Given the description of an element on the screen output the (x, y) to click on. 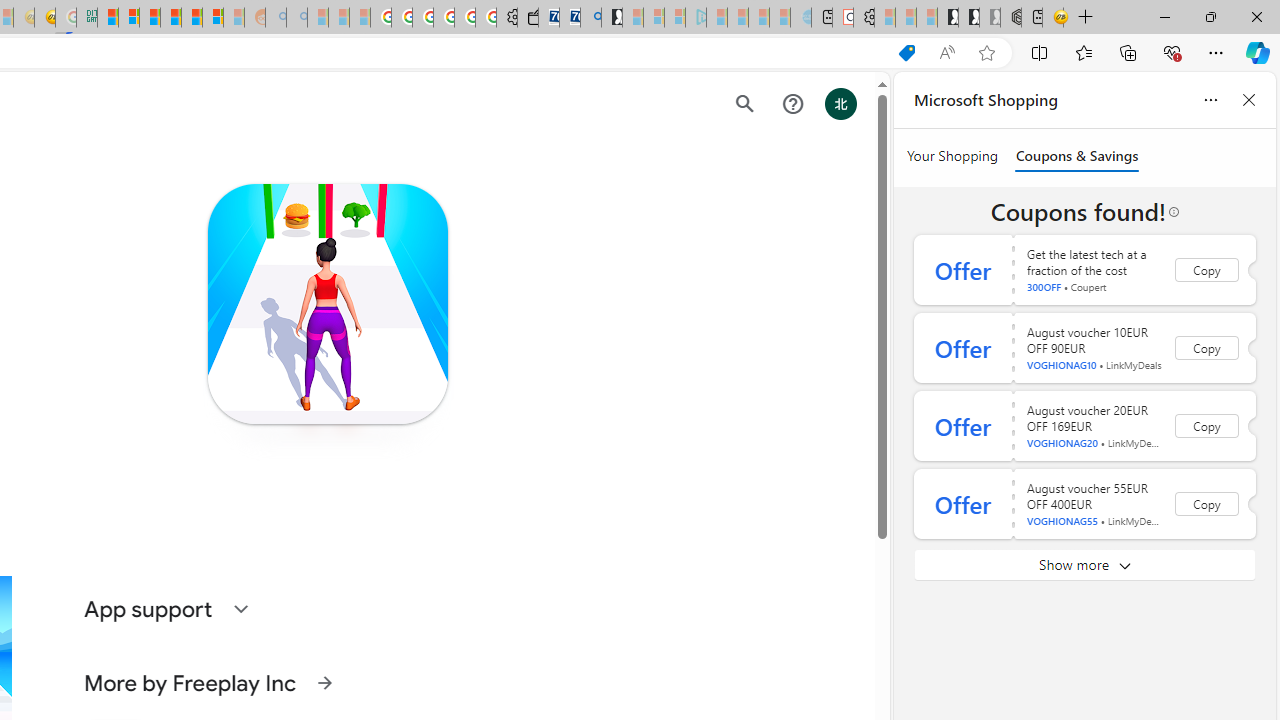
Help Center (792, 103)
See more information on More by Freeplay Inc (324, 682)
